Given the description of an element on the screen output the (x, y) to click on. 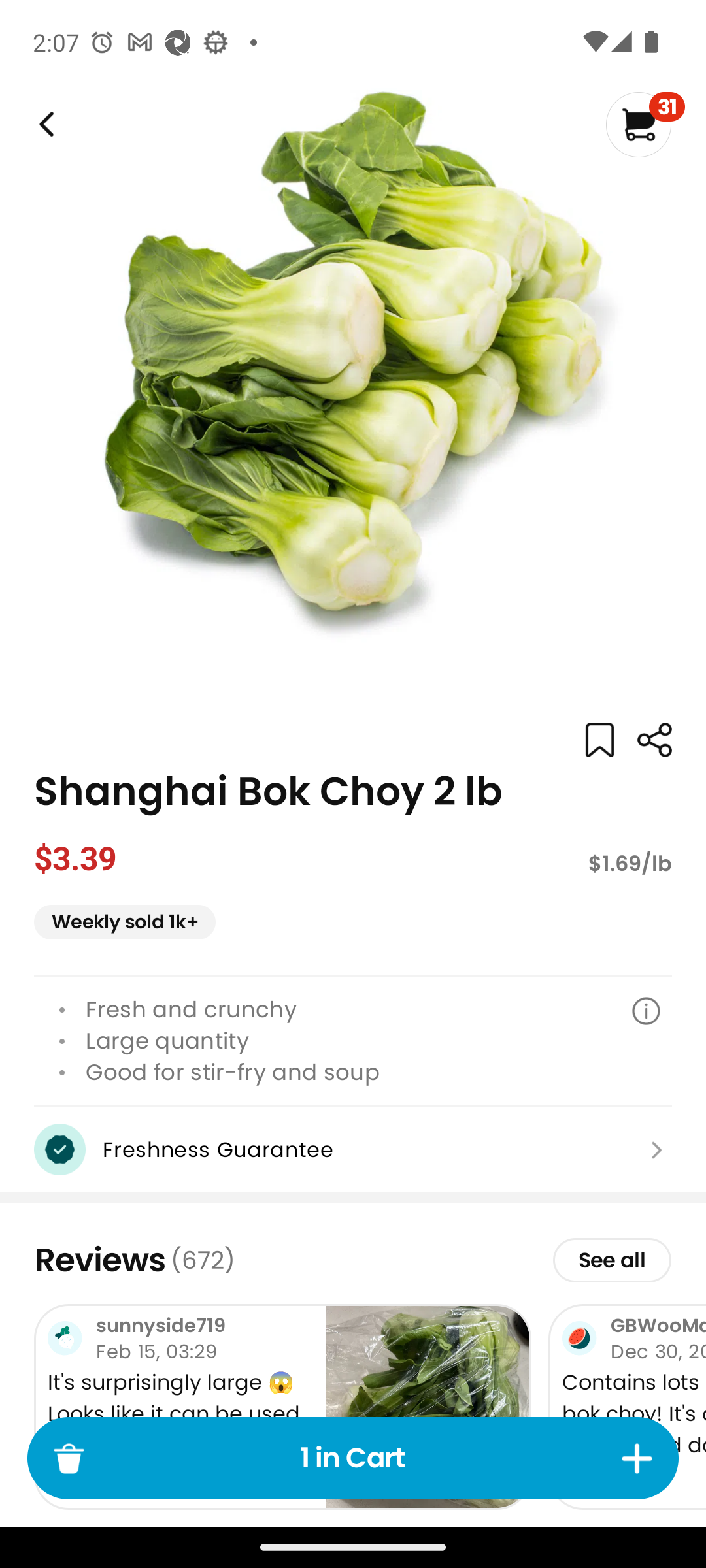
31 (644, 124)
Weee! (45, 124)
Weee! (653, 739)
Freshness Guarantee (352, 1149)
Reviews (672) See all (353, 1259)
1 in Cart (352, 1458)
